Given the description of an element on the screen output the (x, y) to click on. 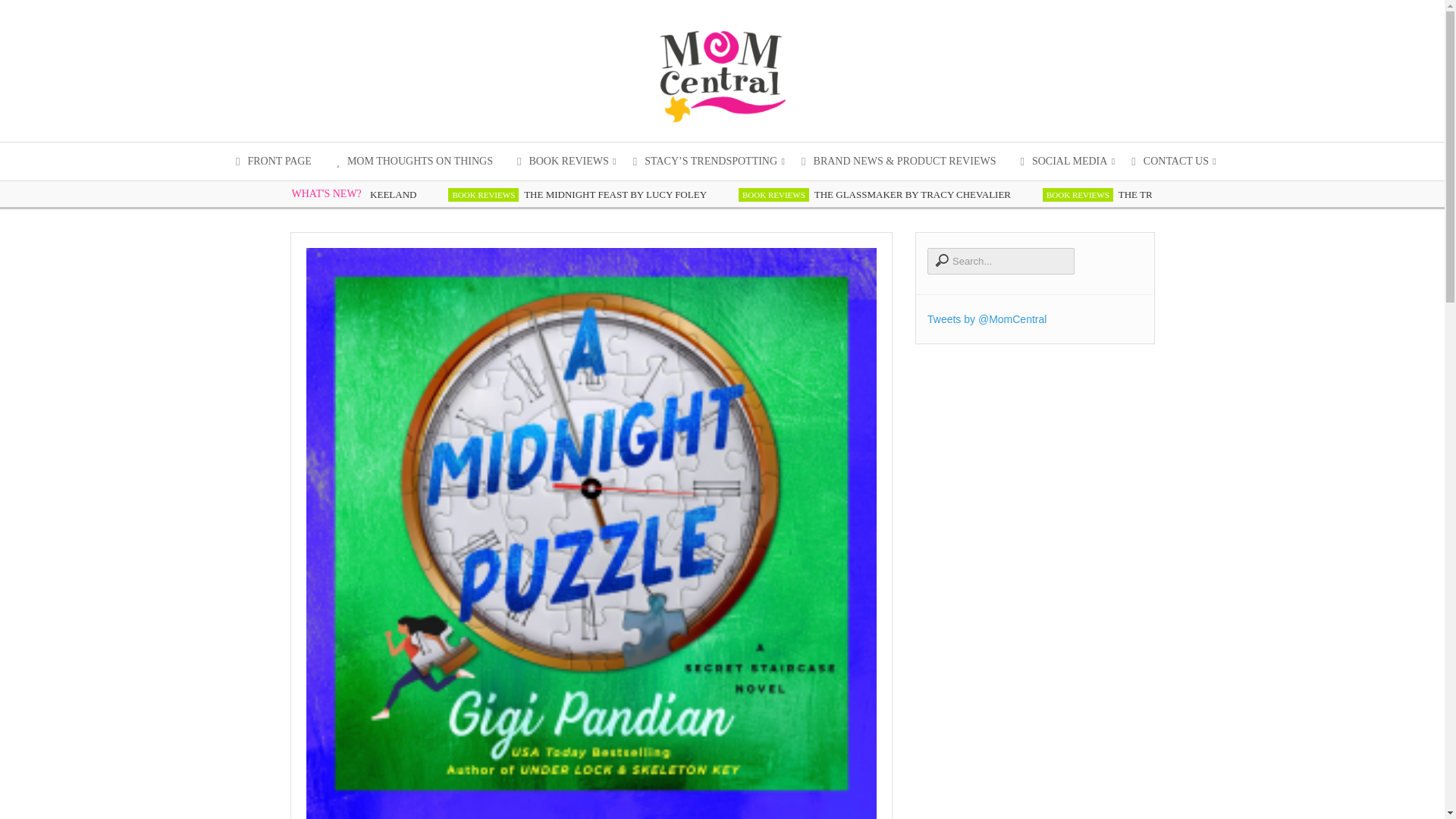
THE MIDNIGHT FEAST BY LUCY FOLEY (623, 194)
THE UNRAVELING BY VI KEELAND (341, 194)
THE TRAP BY AVA GLASS (1183, 194)
BOOK REVIEWS (563, 161)
THE GLASSMAKER BY TRACY CHEVALIER (919, 194)
BOOK REVIEWS (1077, 194)
BOOK REVIEWS (483, 194)
MOM THOUGHTS ON THINGS (414, 161)
FRONT PAGE (273, 161)
BOOK REVIEWS (773, 194)
SOCIAL MEDIA (1063, 161)
CONTACT US (1170, 161)
